Given the description of an element on the screen output the (x, y) to click on. 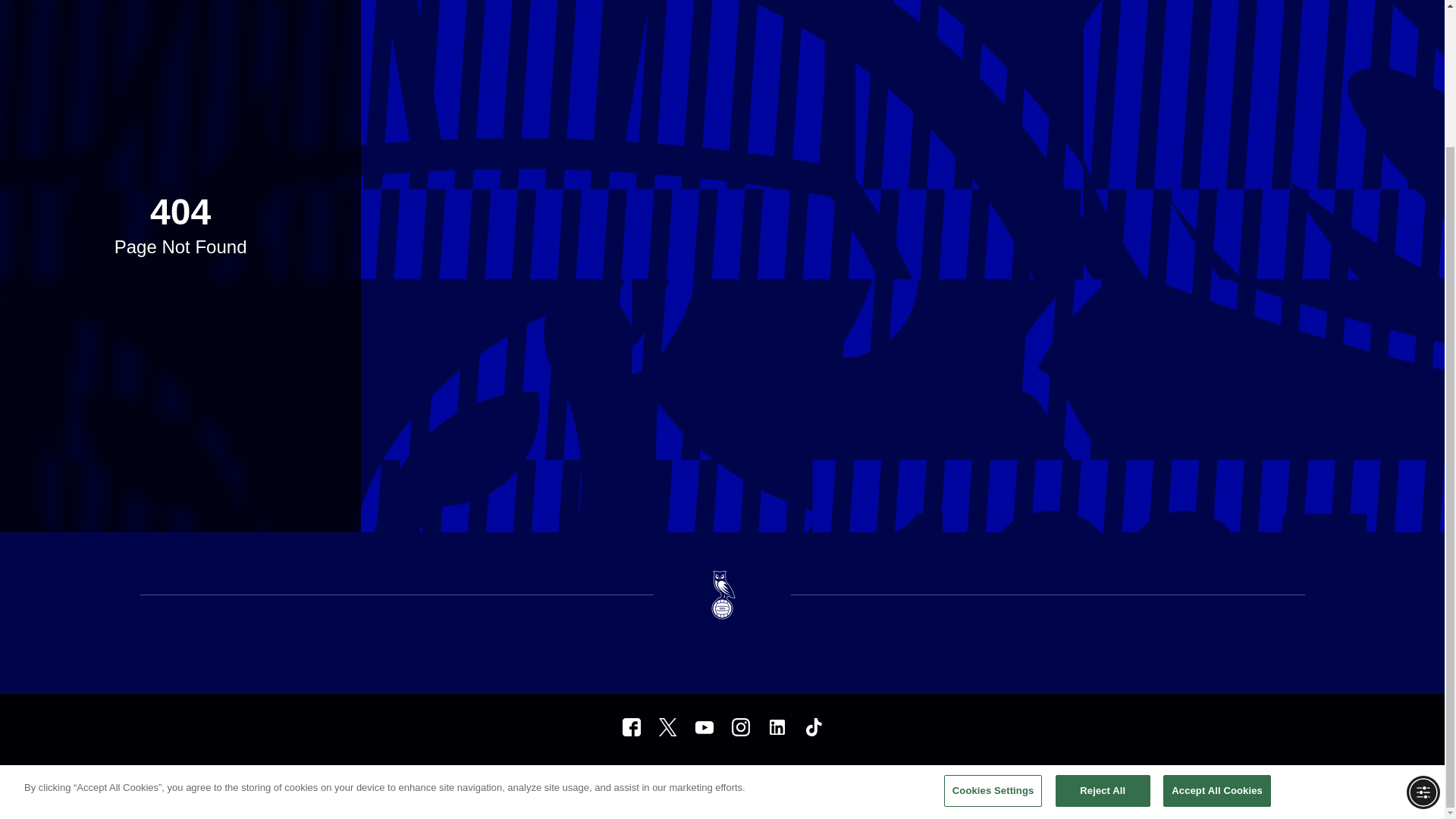
Company Details (796, 779)
Company Details (796, 779)
Oldham Athletic (776, 727)
Cookies Settings (992, 622)
Privacy Policy (648, 779)
Accept All Cookies (1217, 622)
Accessibility Menu (1422, 623)
OfficialOAFC (630, 727)
Reject All (1102, 622)
Accessibility (719, 779)
